Given the description of an element on the screen output the (x, y) to click on. 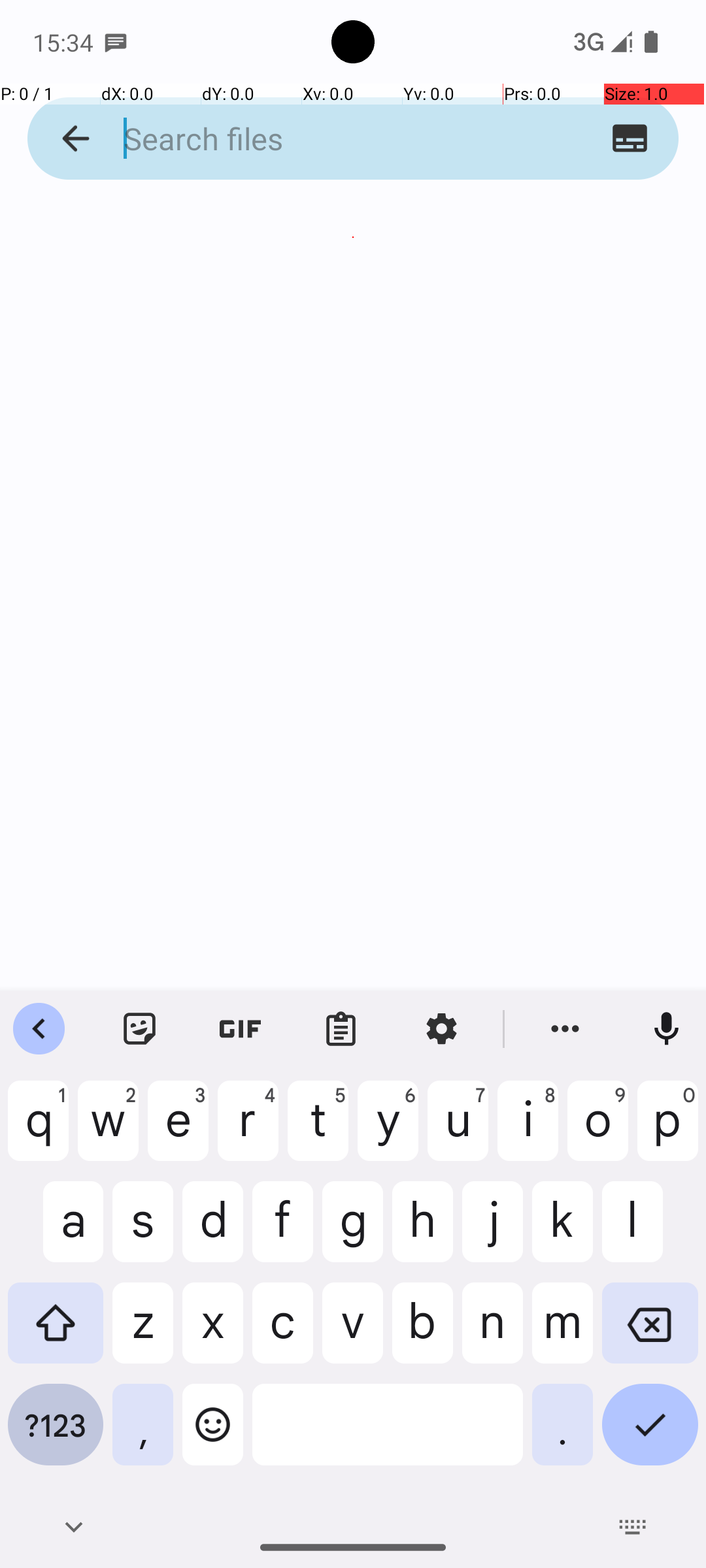
Search files Element type: android.widget.EditText (328, 138)
Toggle filename visibility Element type: android.widget.Button (629, 138)
